Given the description of an element on the screen output the (x, y) to click on. 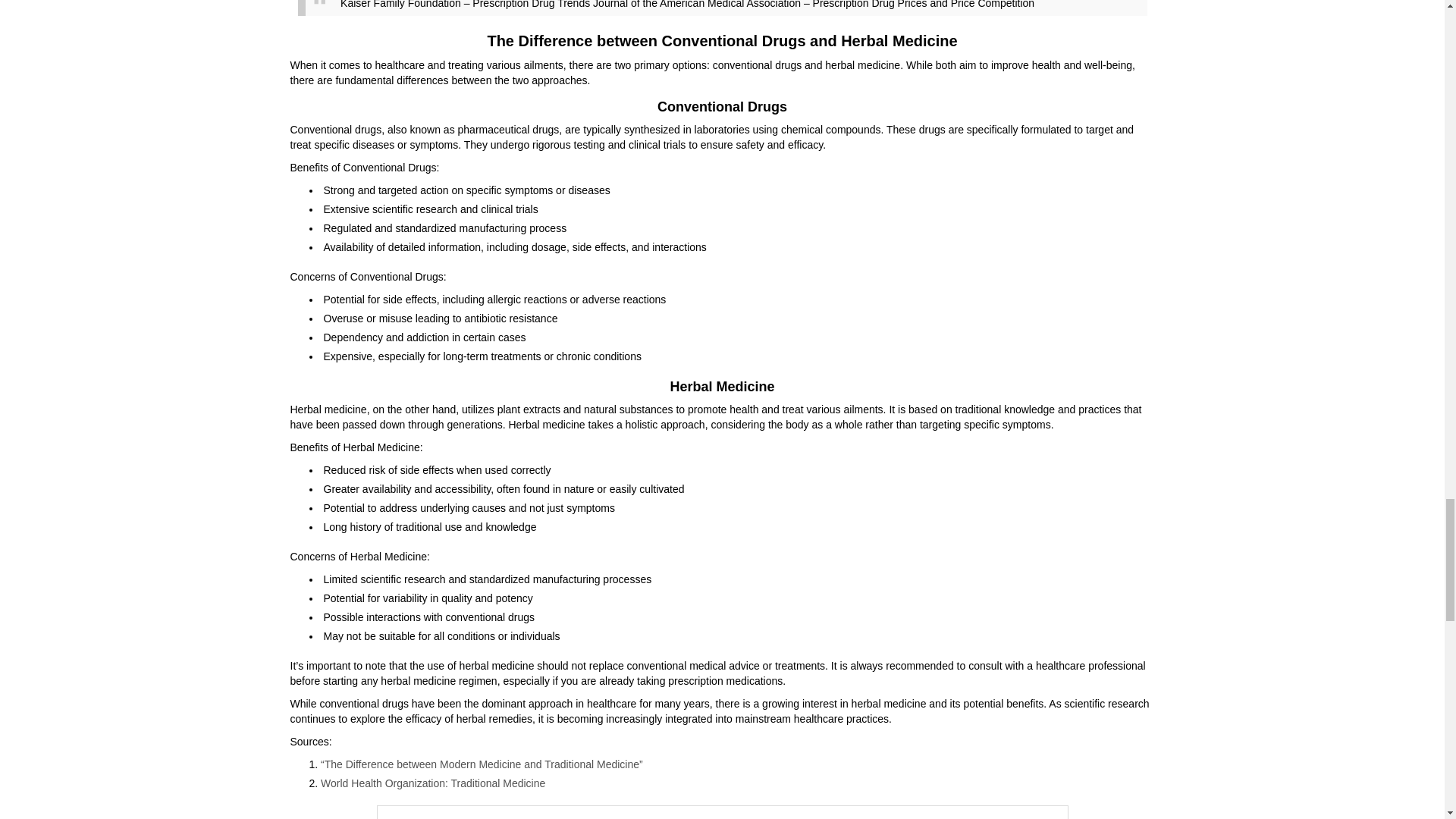
World Health Organization: Traditional Medicine (432, 783)
